Given the description of an element on the screen output the (x, y) to click on. 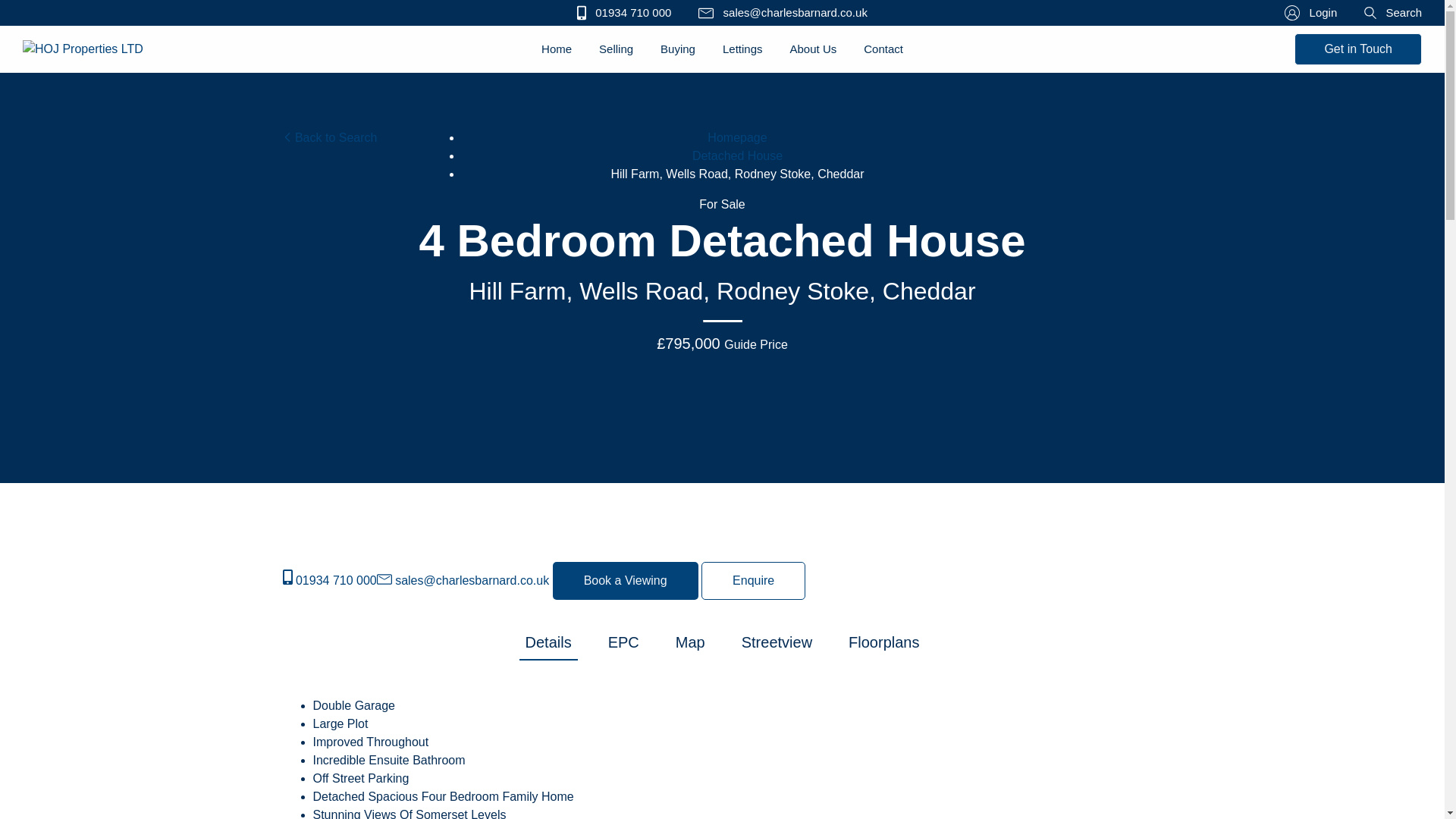
Selling (615, 49)
Lettings (742, 49)
Contact (882, 49)
Home (556, 49)
About Us (813, 49)
Search (1393, 13)
01934 710 000 (623, 13)
Detached House (738, 155)
Homepage (737, 137)
Get in Touch (1358, 49)
Login (1310, 13)
Back to Search (329, 137)
Buying (677, 49)
